Given the description of an element on the screen output the (x, y) to click on. 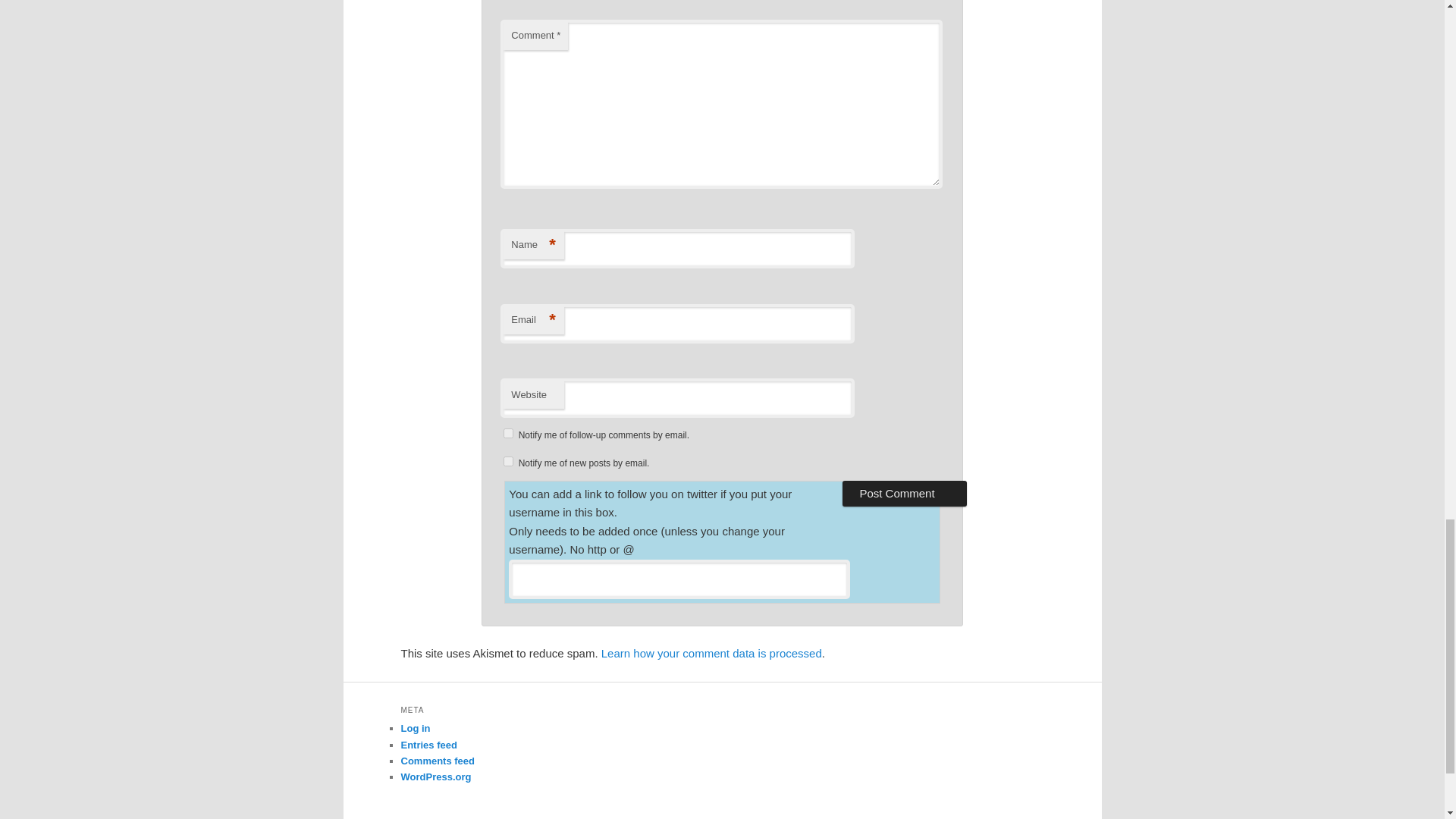
subscribe (508, 461)
Learn how your comment data is processed (711, 653)
Post Comment (904, 493)
Entries feed (428, 745)
Comments feed (437, 760)
Log in (414, 727)
Post Comment (904, 493)
subscribe (508, 433)
